Given the description of an element on the screen output the (x, y) to click on. 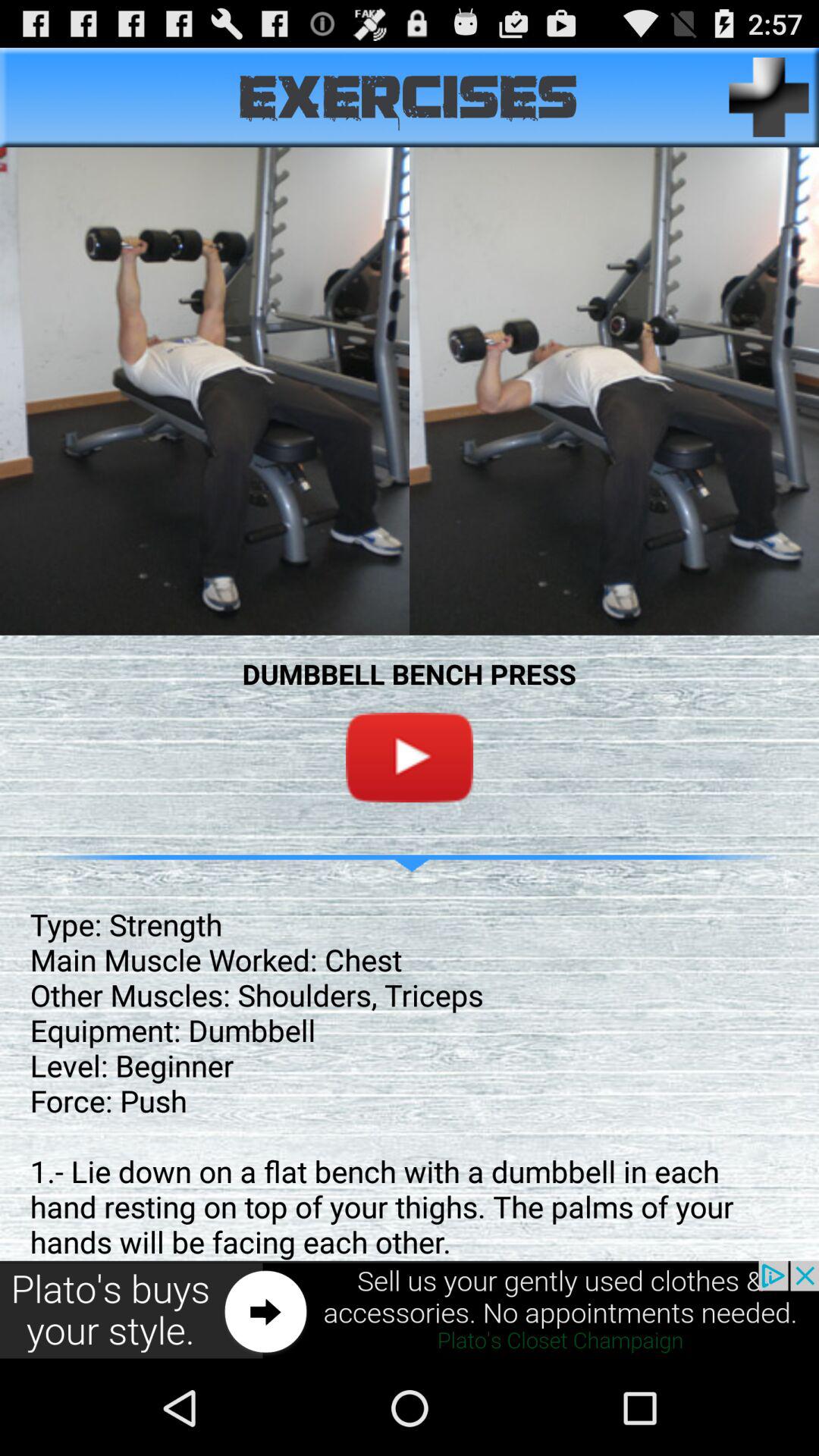
add bookmark (768, 97)
